Given the description of an element on the screen output the (x, y) to click on. 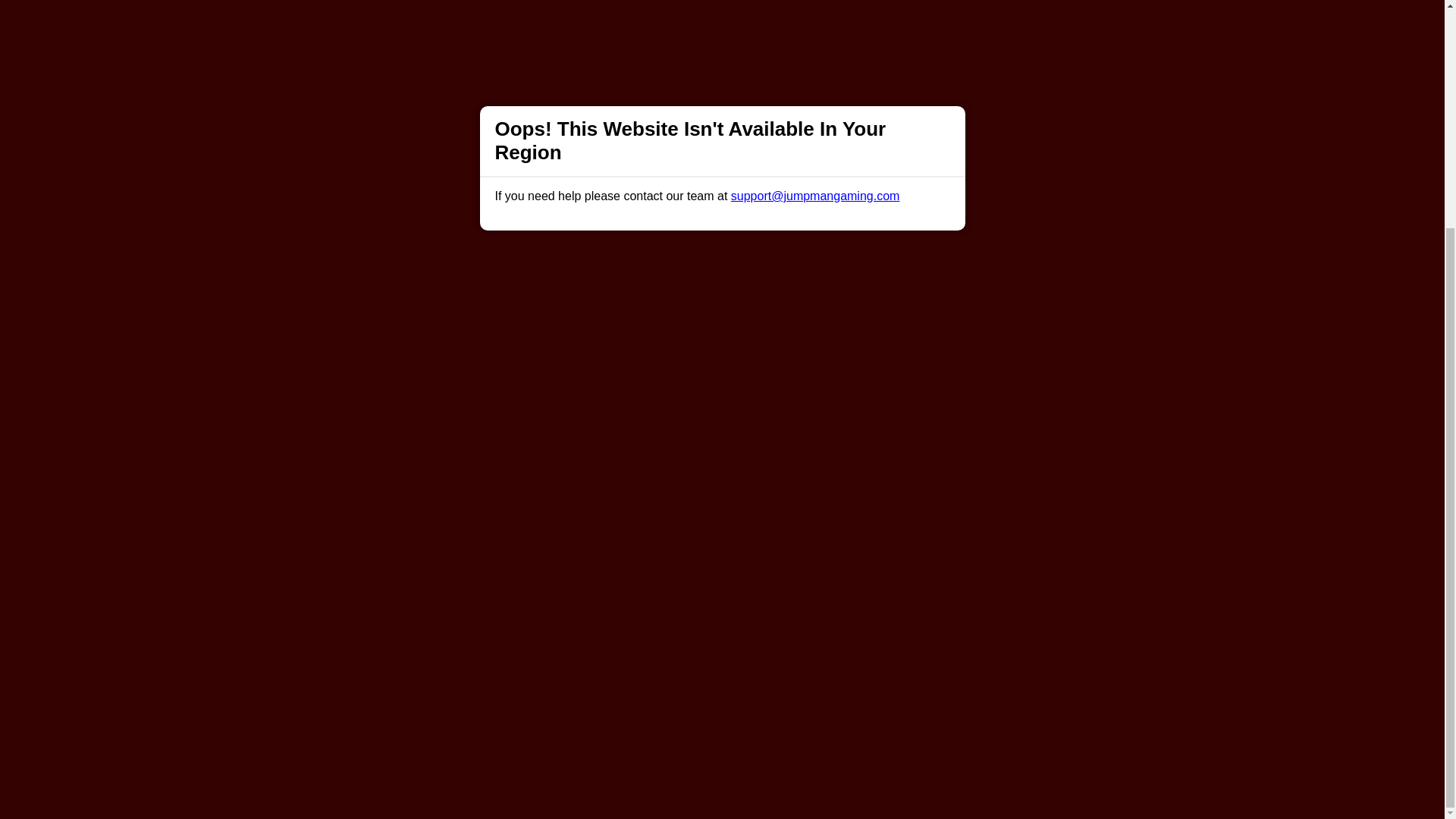
39175 (1011, 694)
Help (489, 491)
www.jumpmancares.co.uk (738, 657)
Responsible Gaming (407, 491)
Back To All Games (721, 393)
www.begambleaware.org (615, 657)
Back To All Games (722, 393)
Affiliates (791, 491)
Blog (738, 491)
Jumpman Gaming Limited (536, 694)
Privacy Policy (671, 491)
